Given the description of an element on the screen output the (x, y) to click on. 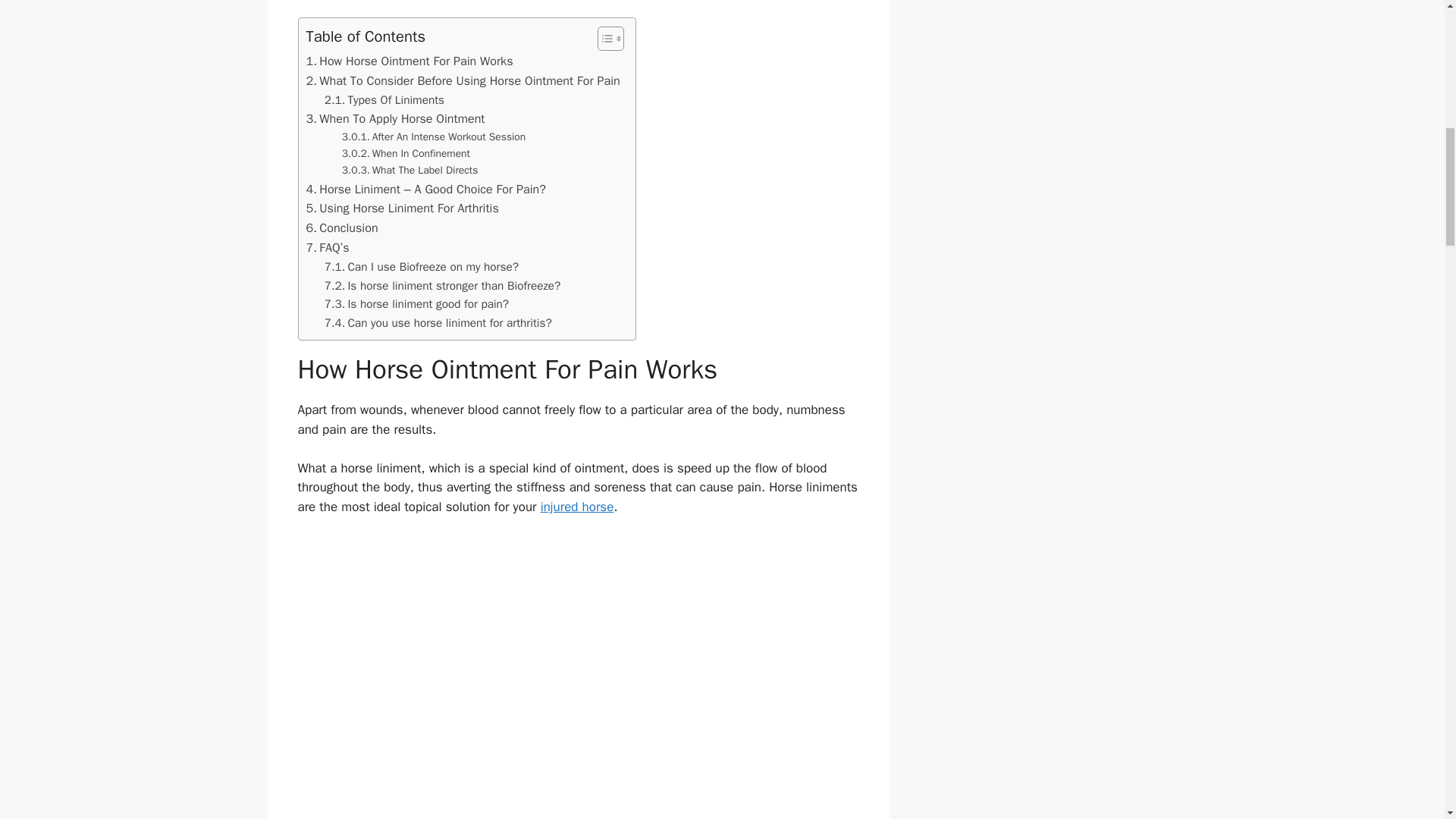
Conclusion (341, 228)
Conclusion (341, 228)
When To Apply Horse Ointment (394, 118)
What The Label Directs (410, 170)
When In Confinement (406, 153)
After An Intense Workout Session (433, 136)
Types Of Liniments (384, 99)
injured horse (577, 506)
Can I use Biofreeze on my horse? (421, 266)
Is horse liniment stronger than Biofreeze? (442, 285)
When In Confinement (406, 153)
Is horse liniment stronger than Biofreeze? (442, 285)
How Horse Ointment For Pain Works (409, 61)
Can you use horse liniment for arthritis? (437, 322)
